Given the description of an element on the screen output the (x, y) to click on. 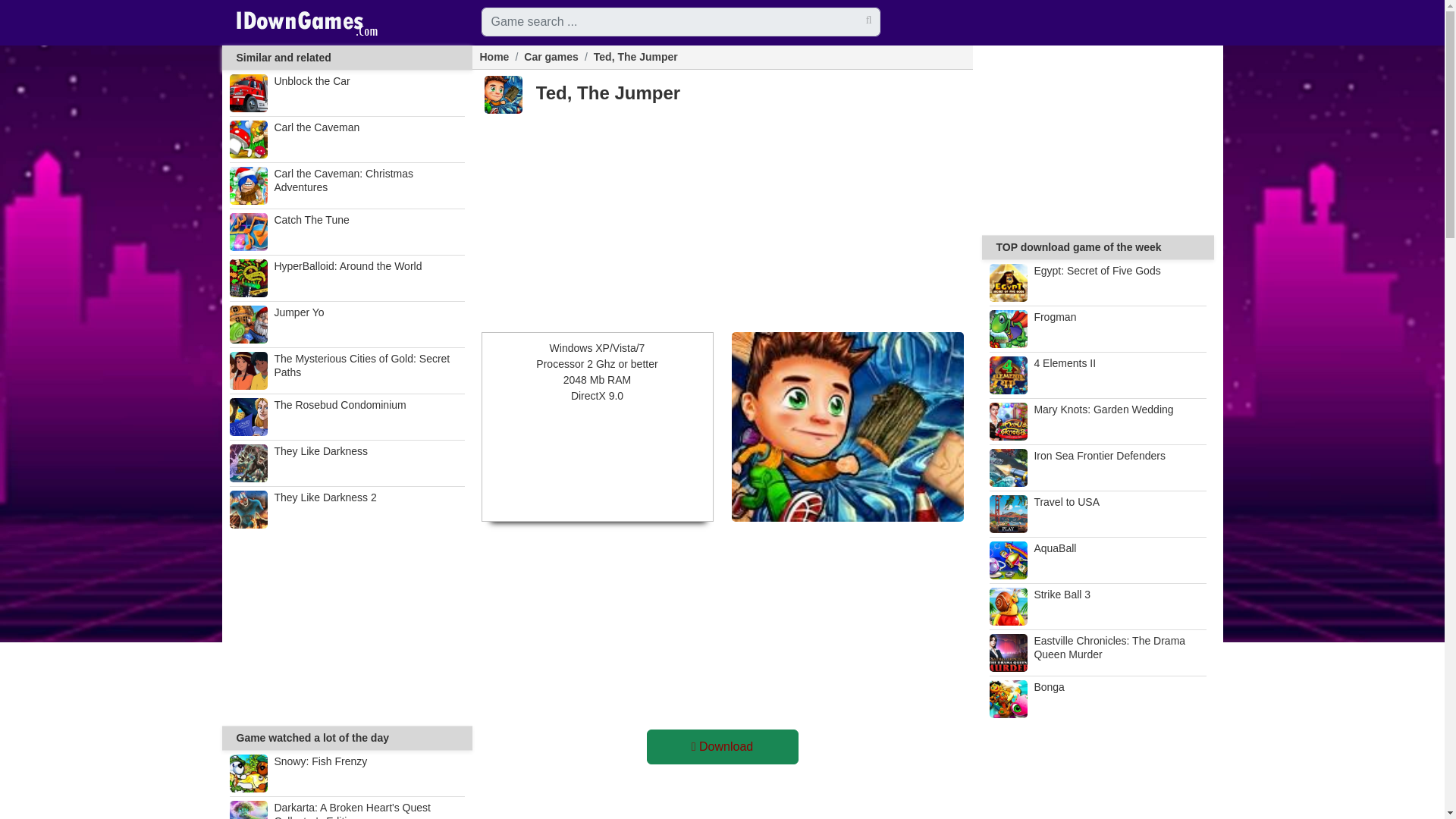
  Iron Sea Frontier Defenders (1096, 467)
Ted, The Jumper (636, 56)
The Mysterious Cities of Gold: Secret Paths (346, 370)
Unblock the Car (346, 93)
  Unblock the Car (346, 93)
The Rosebud Condominium (346, 416)
Jumper Yo (346, 324)
Catch The Tune (346, 231)
Download (721, 746)
Carl the Caveman: Christmas Adventures (346, 185)
